Given the description of an element on the screen output the (x, y) to click on. 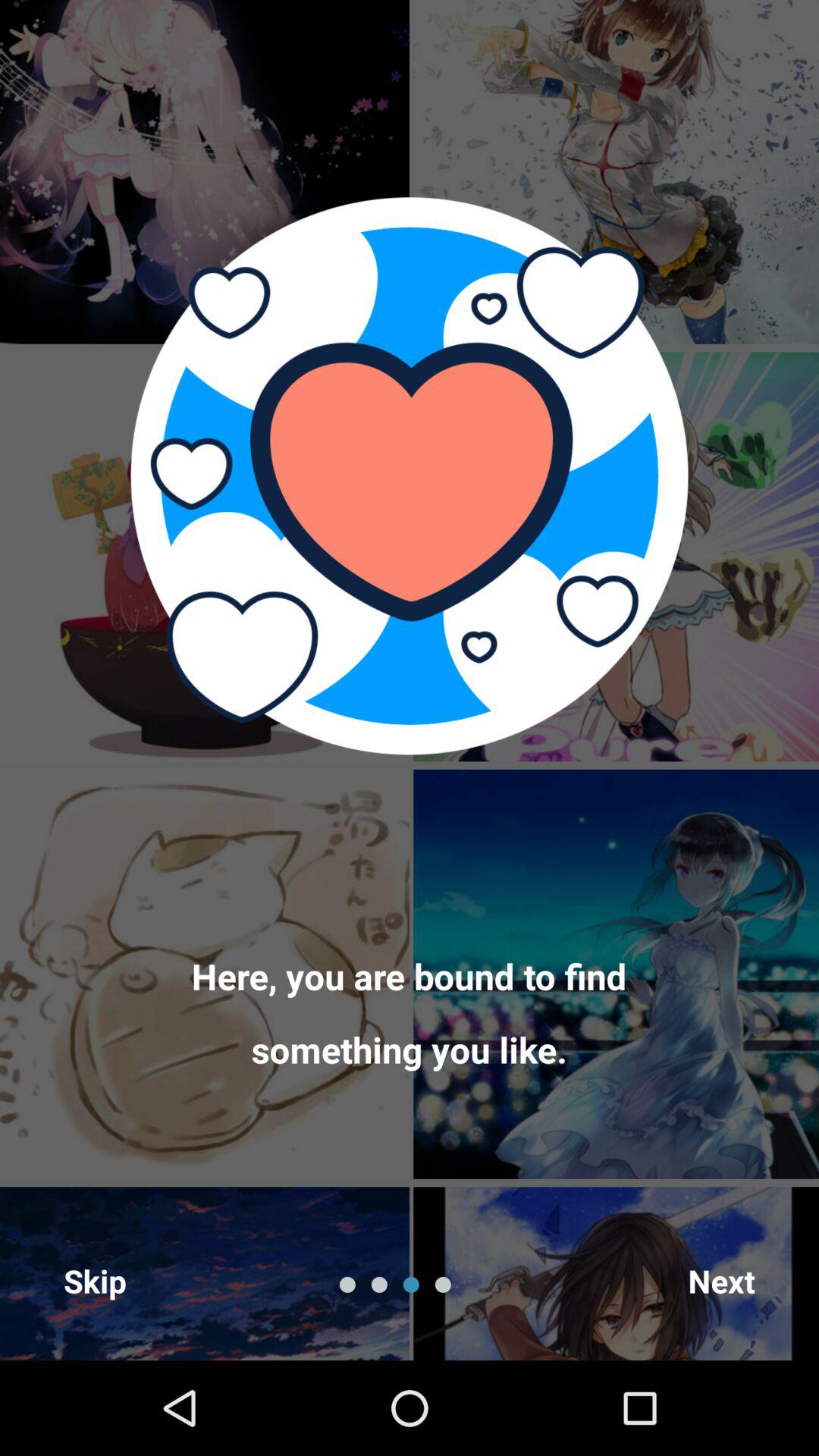
turn on skip item (95, 1280)
